Given the description of an element on the screen output the (x, y) to click on. 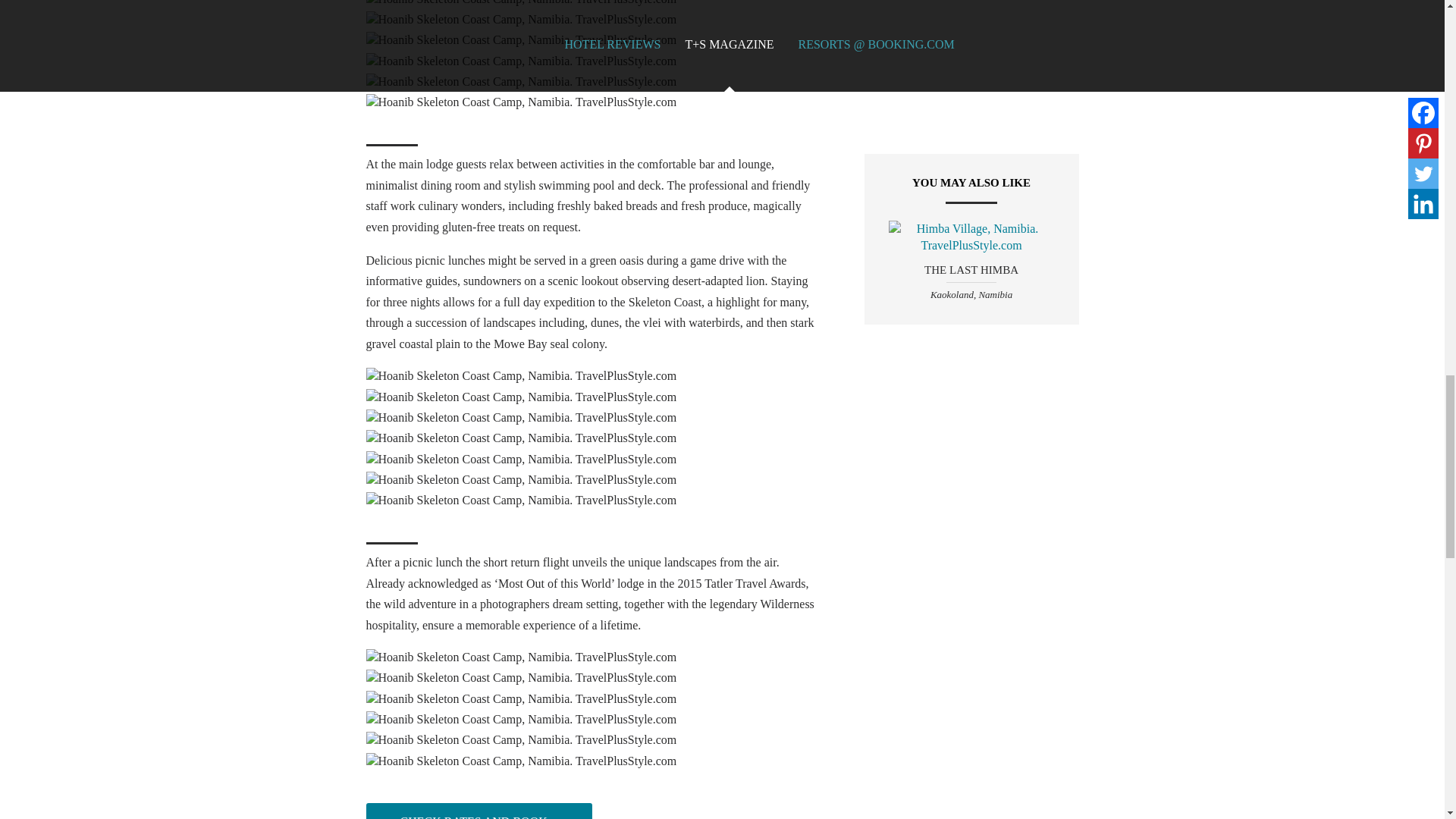
Hoanib Skeleton Coast Camp, Namibia. TravelPlusStyle.com (521, 102)
Hoanib Skeleton Coast Camp, Namibia. TravelPlusStyle.com (521, 61)
Hoanib Skeleton Coast Camp, Namibia. TravelPlusStyle.com (521, 3)
Hoanib Skeleton Coast Camp, Namibia. TravelPlusStyle.com (521, 375)
Hoanib Skeleton Coast Camp, Namibia. TravelPlusStyle.com (521, 39)
Himba Village, Namibia. TravelPlusStyle.com (971, 236)
Hoanib Skeleton Coast Camp, Namibia. TravelPlusStyle.com (521, 81)
Hoanib Skeleton Coast Camp, Namibia. TravelPlusStyle.com (521, 397)
Hoanib Skeleton Coast Camp, Namibia. TravelPlusStyle.com (521, 19)
